Given the description of an element on the screen output the (x, y) to click on. 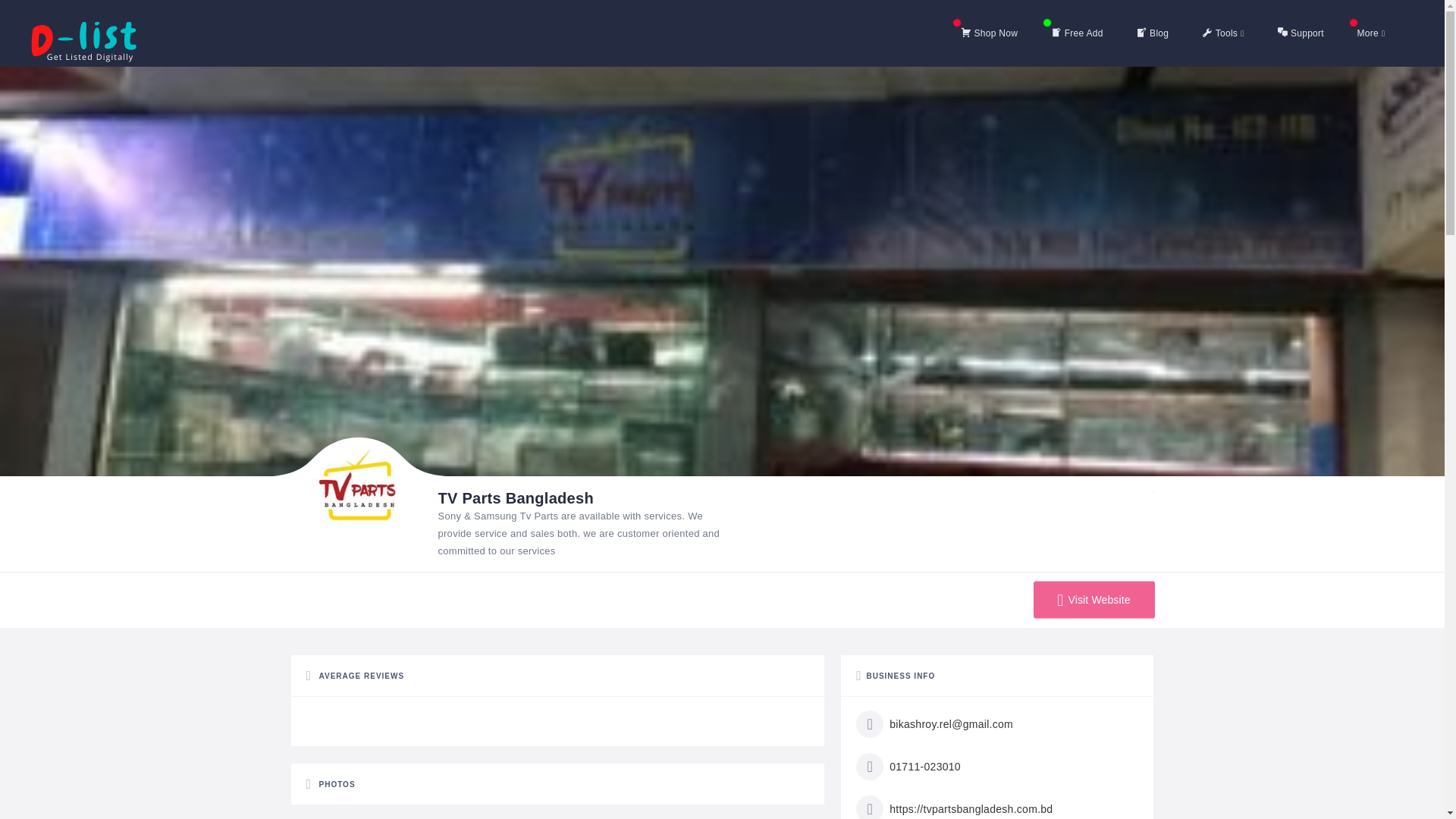
01711-023010 (908, 766)
Tools (1222, 33)
Blog (1152, 33)
Visit Website (1093, 600)
Shop Now (988, 33)
Support (1300, 33)
Free Add (1076, 33)
